Given the description of an element on the screen output the (x, y) to click on. 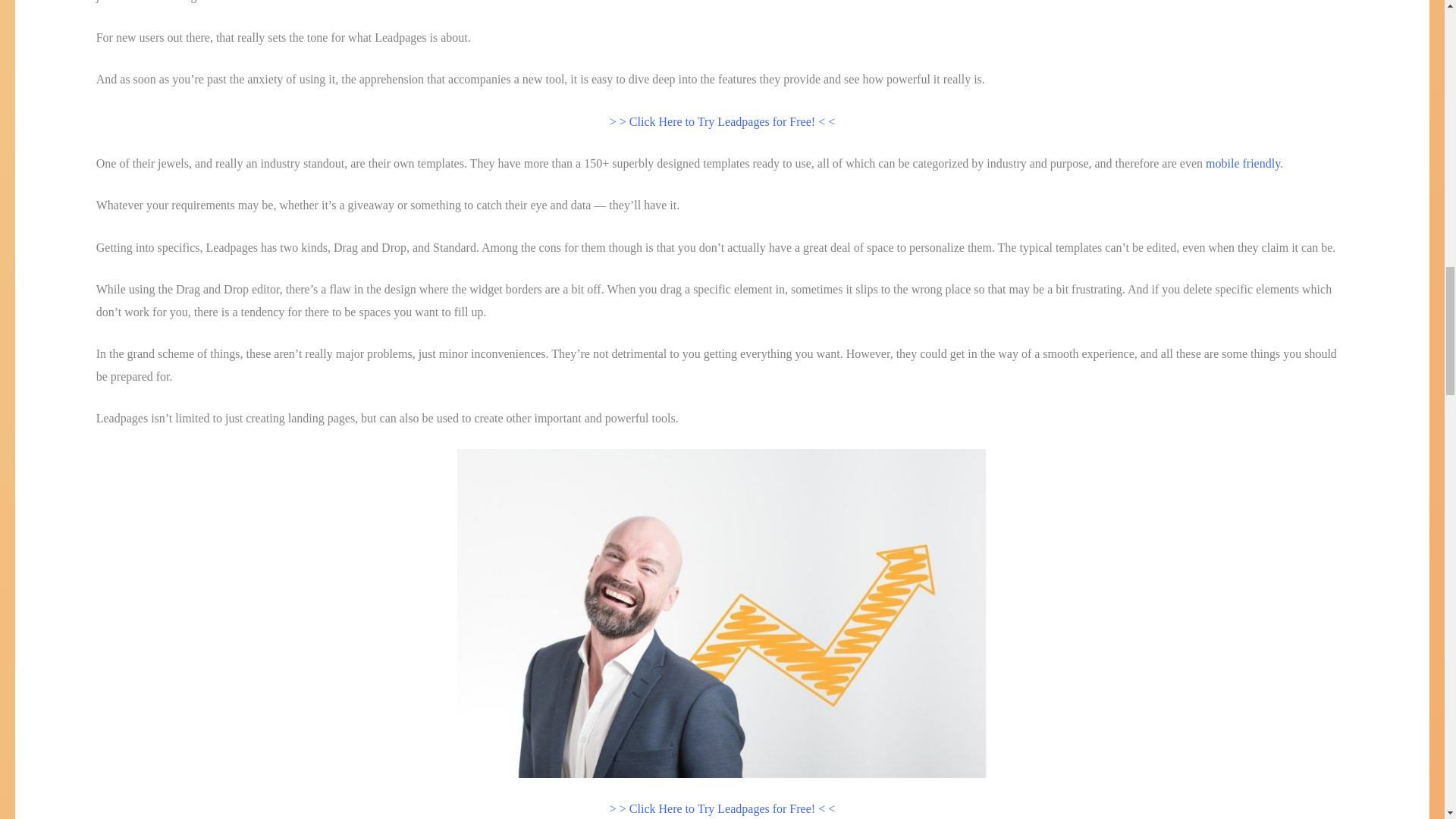
mobile friendly (1242, 163)
